Given the description of an element on the screen output the (x, y) to click on. 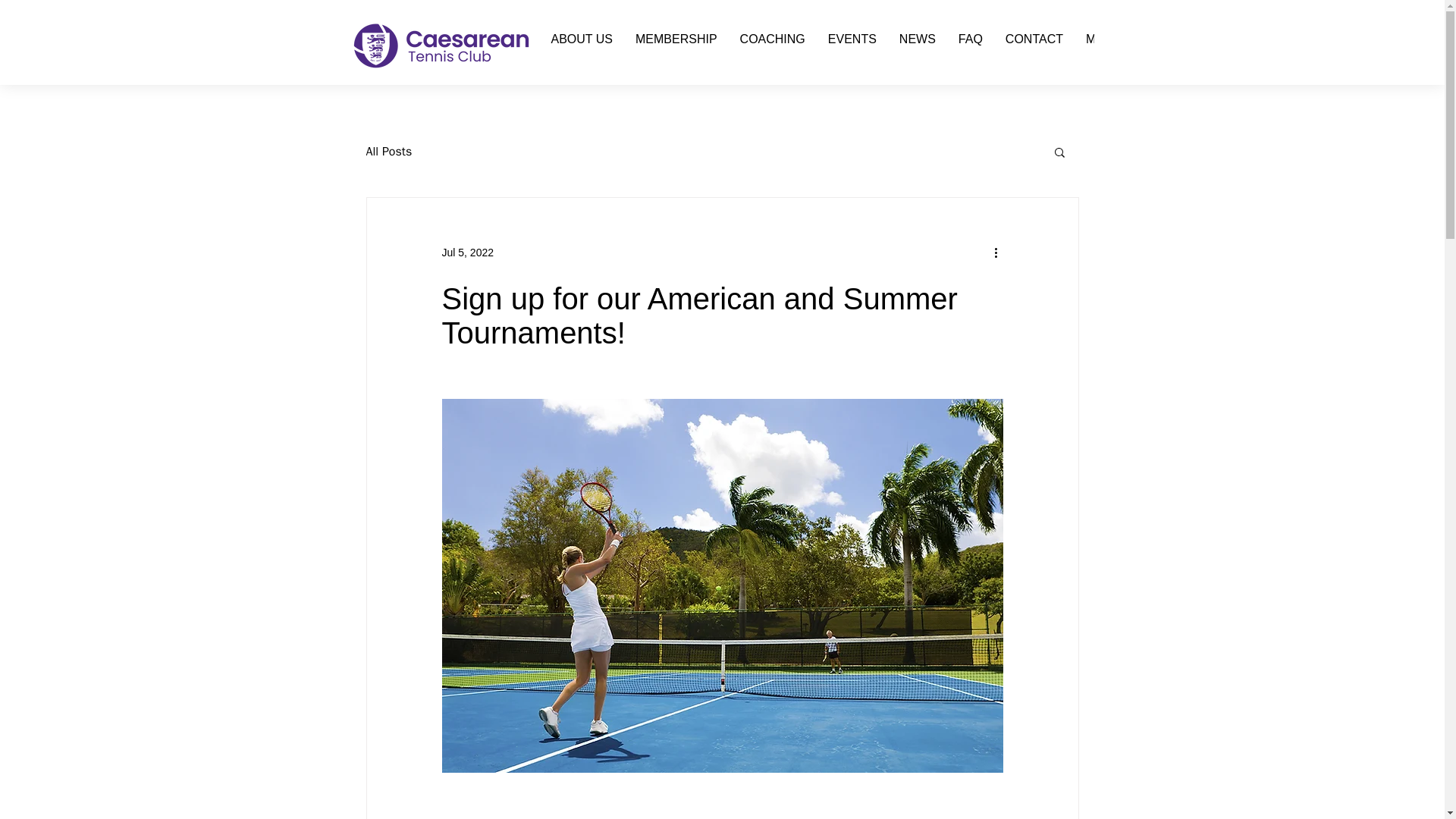
ABOUT US (582, 44)
CONTACT (1034, 44)
Jul 5, 2022 (467, 251)
MEMBERSHIP (676, 44)
All Posts (388, 151)
NEWS (917, 44)
COACHING (772, 44)
FAQ (970, 44)
EVENTS (852, 44)
